Given the description of an element on the screen output the (x, y) to click on. 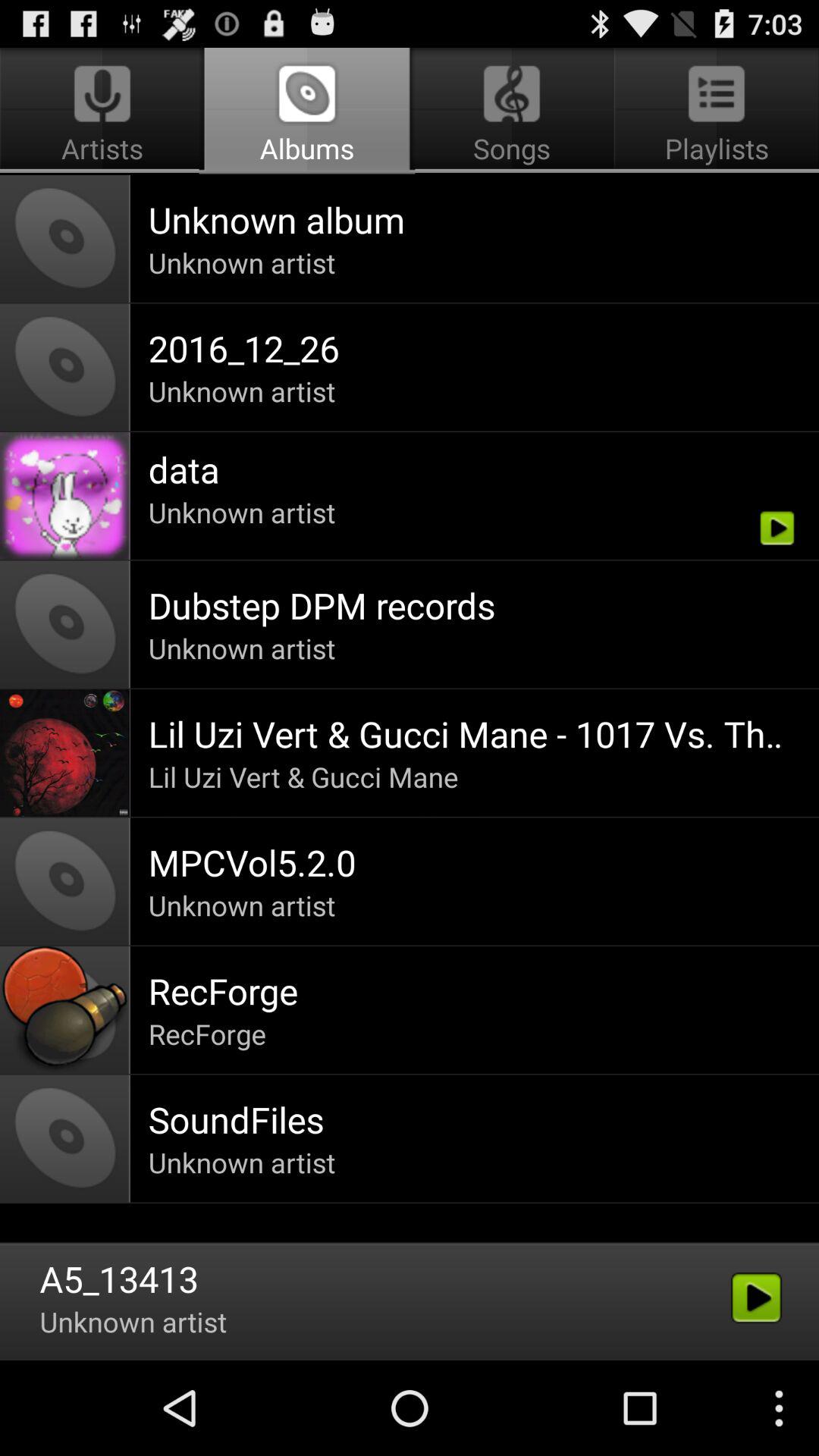
flip to the artists (105, 111)
